Given the description of an element on the screen output the (x, y) to click on. 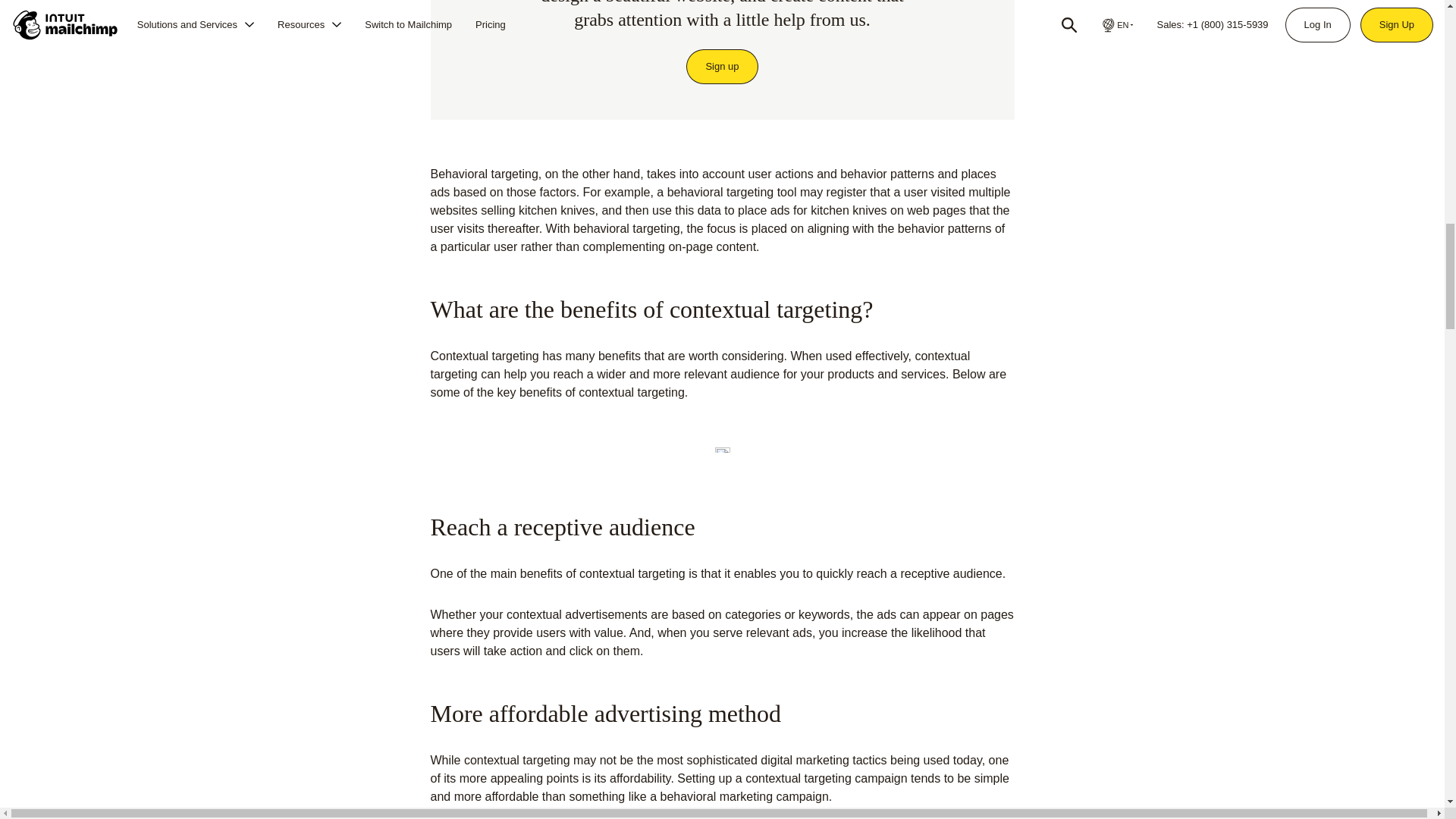
Sign up (722, 66)
